Given the description of an element on the screen output the (x, y) to click on. 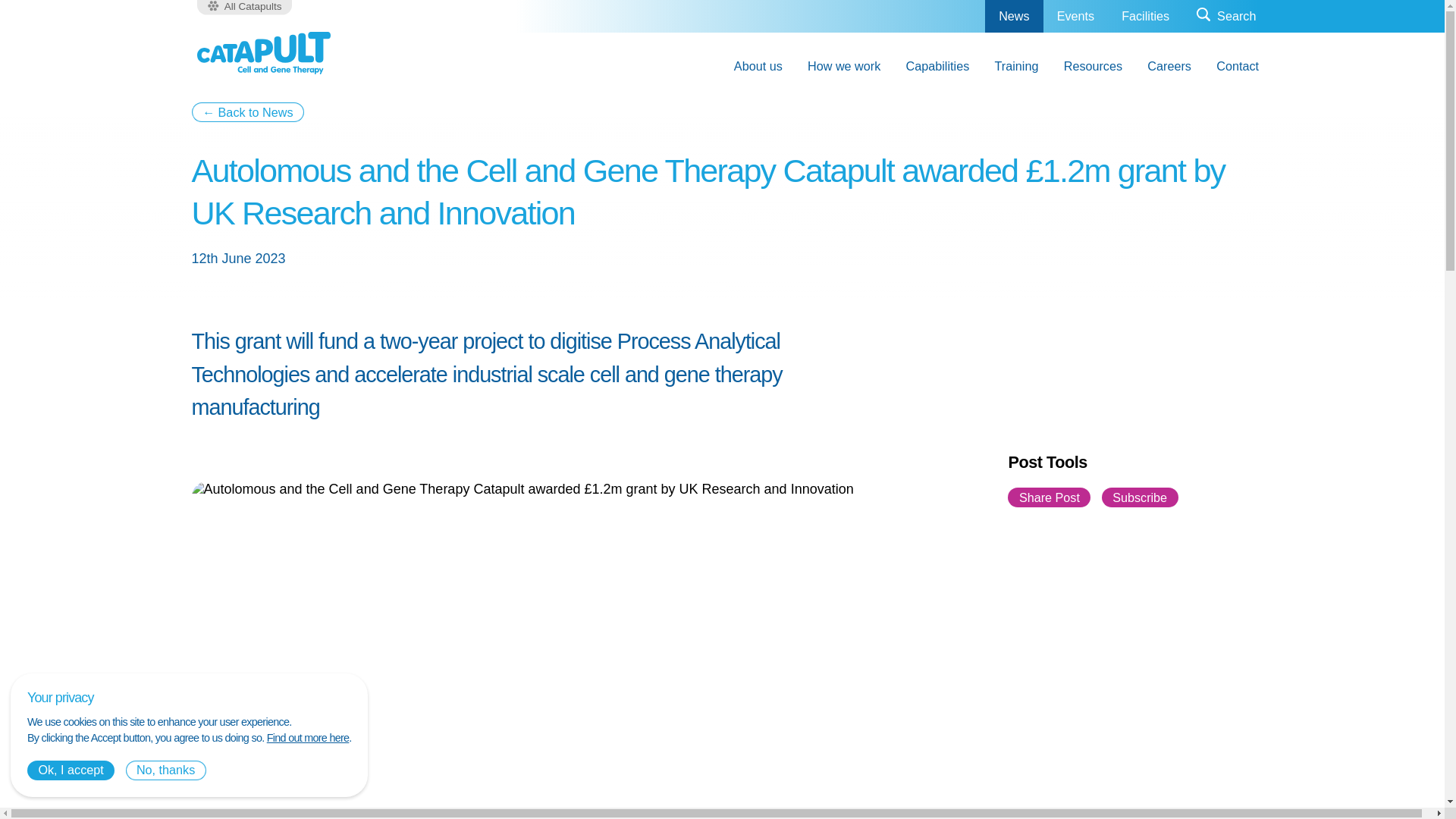
News (1013, 16)
How we work (843, 65)
Search (1225, 16)
Events (1075, 16)
Training (1016, 65)
Facilities (1145, 16)
All Catapults (244, 7)
Resources (1092, 65)
Capabilities (937, 65)
About us (757, 65)
